Given the description of an element on the screen output the (x, y) to click on. 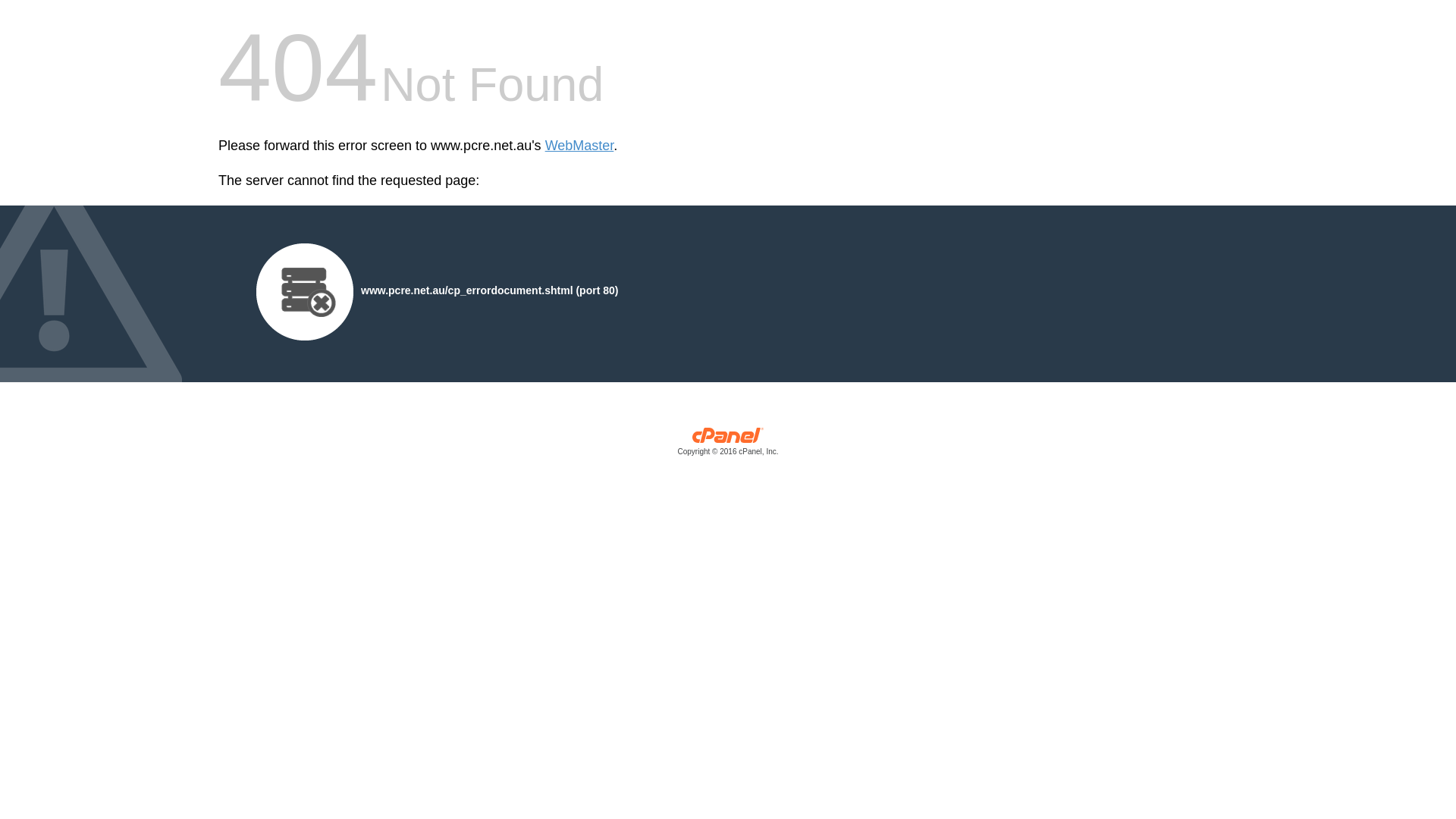
WebMaster Element type: text (579, 145)
